Given the description of an element on the screen output the (x, y) to click on. 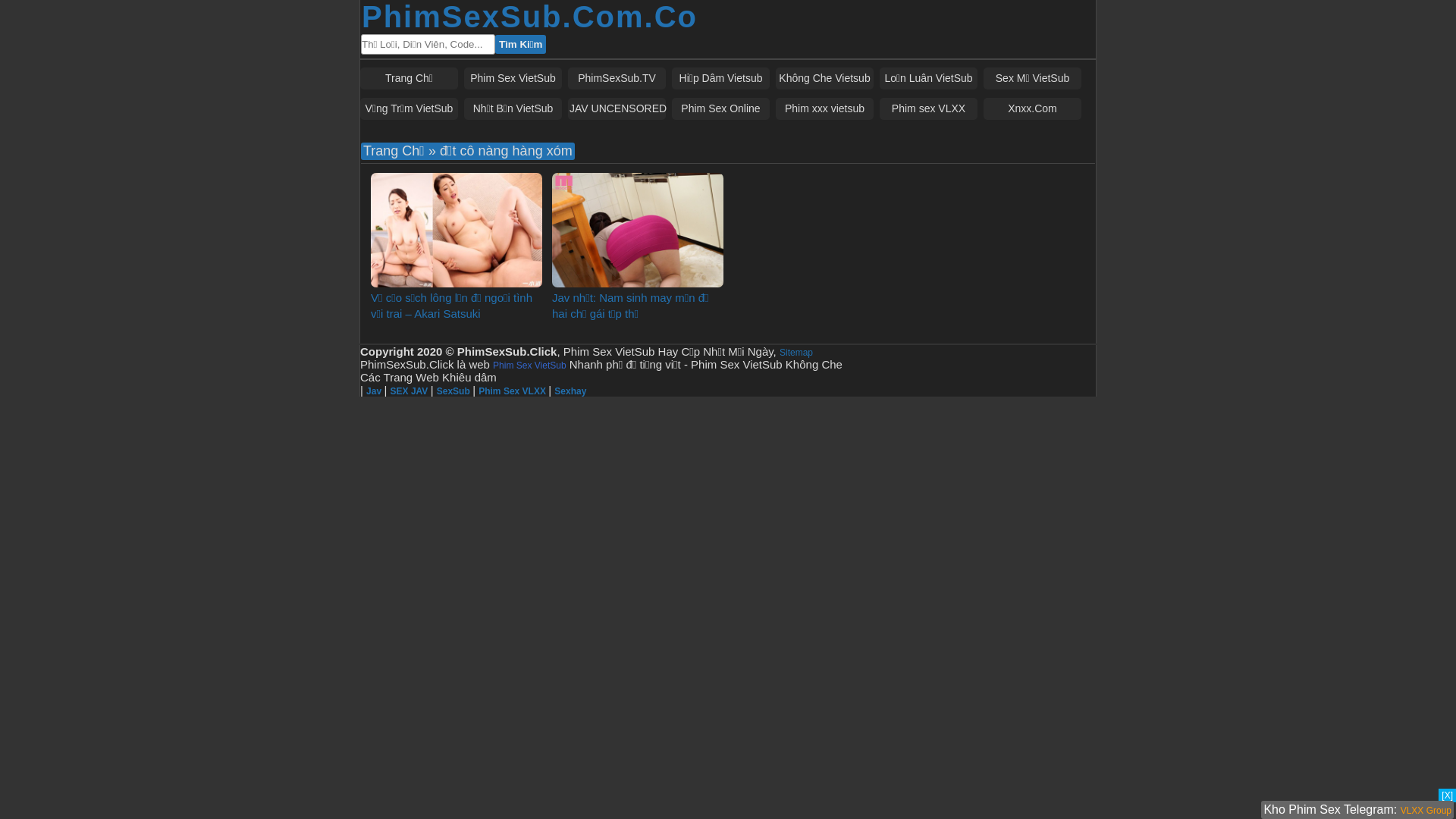
JAV UNCENSORED Element type: text (616, 108)
Phim Sex Online Element type: text (720, 108)
PhimSexSub.TV Element type: text (616, 78)
Phim sex VLXX Element type: text (928, 108)
Phim xxx vietsub Element type: text (824, 108)
SEX JAV Element type: text (410, 390)
PhimSexSub.Com.Co Element type: text (529, 16)
Phim Sex VietSub Element type: text (529, 365)
VLXX Group Element type: text (1425, 810)
Phim Sex VietSub Element type: text (512, 78)
Sexhay Element type: text (570, 390)
Sitemap Element type: text (795, 352)
Xnxx.Com Element type: text (1032, 108)
Phim Sex VLXX Element type: text (513, 390)
Jav Element type: text (374, 390)
SexSub Element type: text (454, 390)
